Given the description of an element on the screen output the (x, y) to click on. 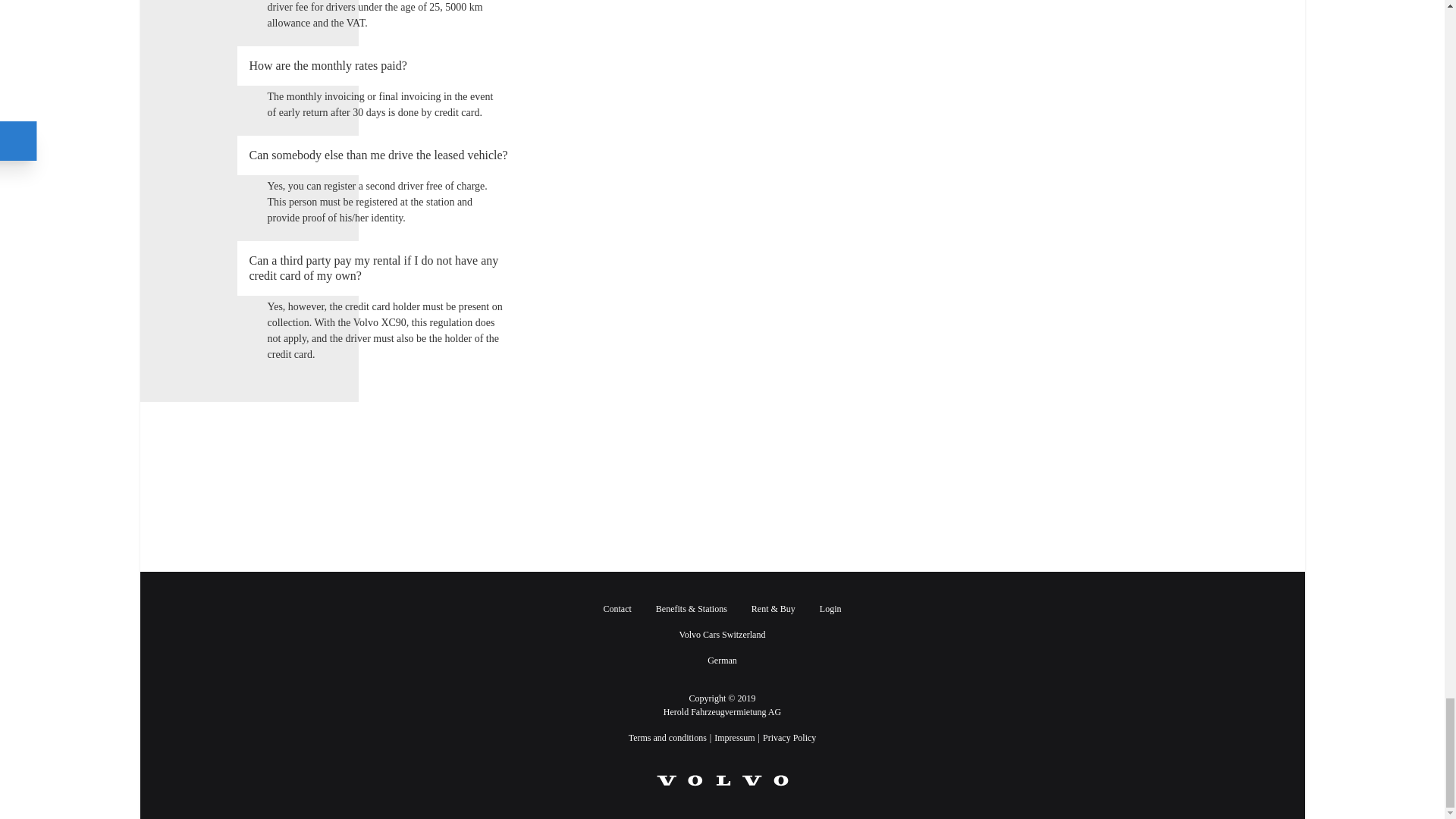
German (721, 660)
Impressum (734, 737)
Privacy Policy (788, 737)
Volvo Cars Switzerland (722, 634)
Login (830, 608)
Terms and conditions (667, 737)
